Given the description of an element on the screen output the (x, y) to click on. 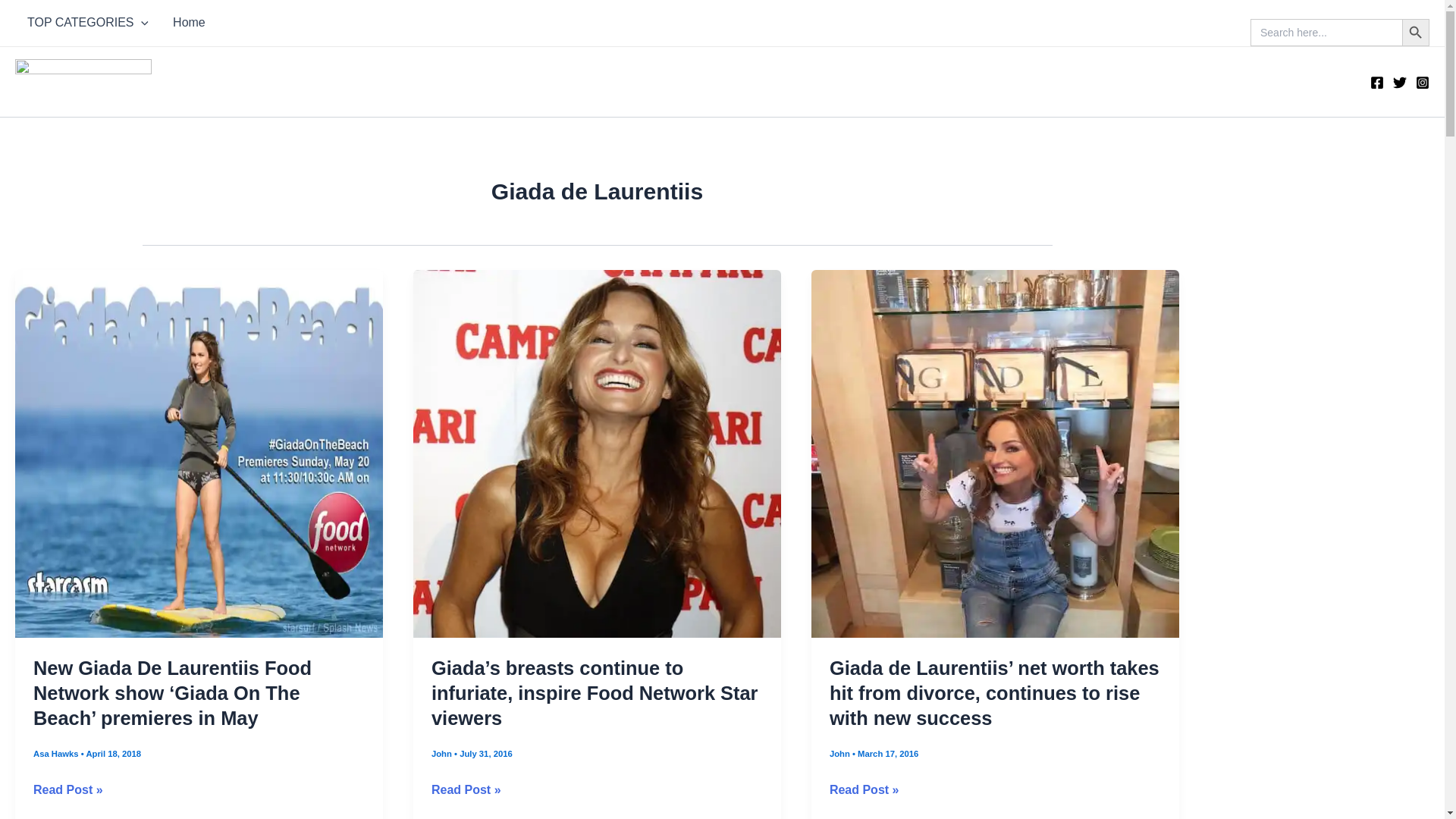
View all posts by John (442, 753)
View all posts by John (840, 753)
Search Button (1415, 31)
TOP CATEGORIES (87, 22)
Asa Hawks (57, 753)
Home (188, 22)
View all posts by Asa Hawks (57, 753)
